Given the description of an element on the screen output the (x, y) to click on. 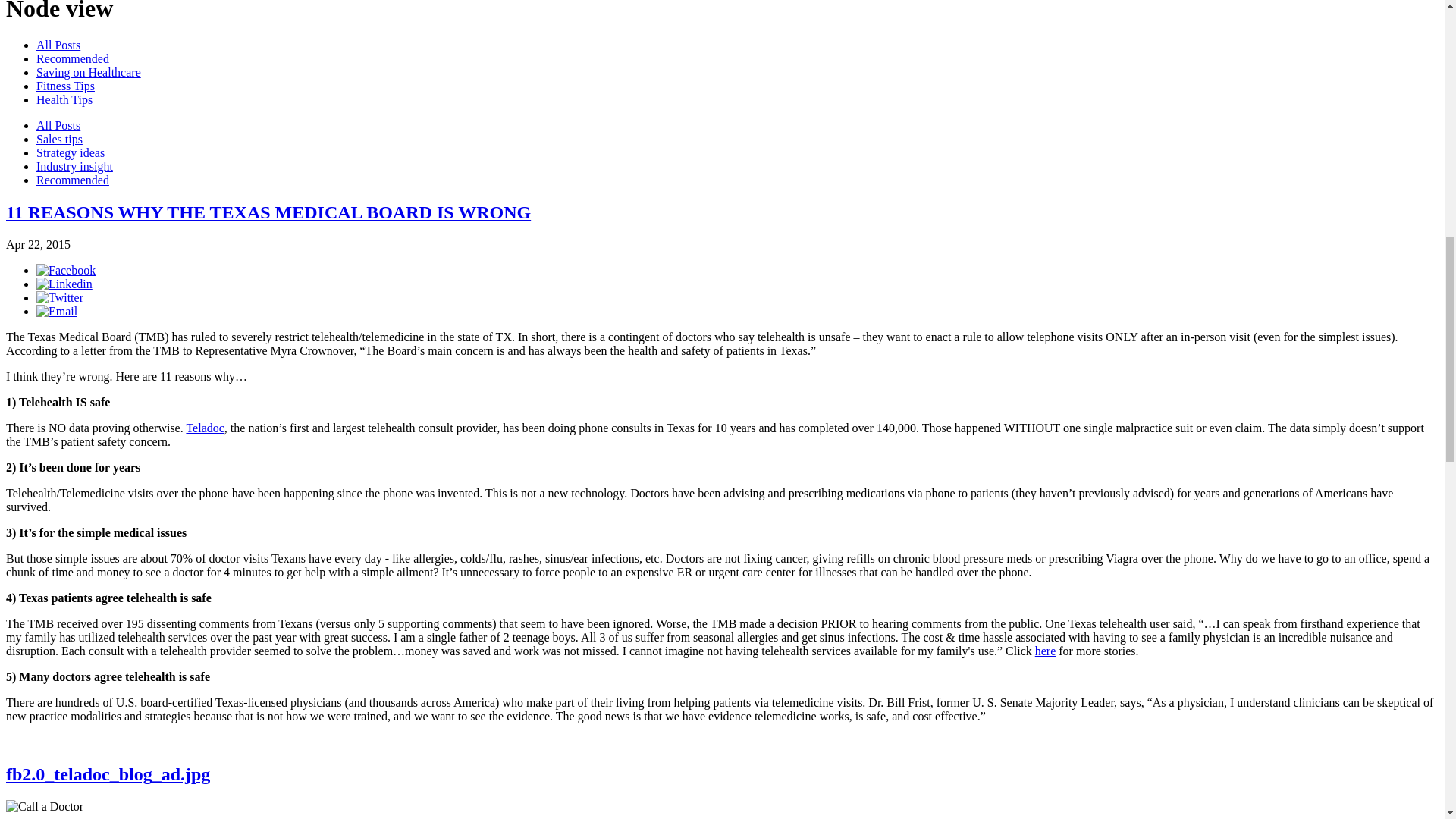
Fitness Tips (65, 85)
Recommended (72, 58)
All Posts (58, 124)
Facebook (66, 269)
11 REASONS WHY THE TEXAS MEDICAL BOARD IS WRONG (268, 211)
Linkedin (64, 283)
Health Tips (64, 99)
Twitter (59, 297)
All Posts (58, 44)
Strategy ideas (70, 152)
Recommended (72, 179)
Industry insight (74, 165)
Sales tips (59, 138)
Email (56, 310)
Saving on Healthcare (88, 72)
